Given the description of an element on the screen output the (x, y) to click on. 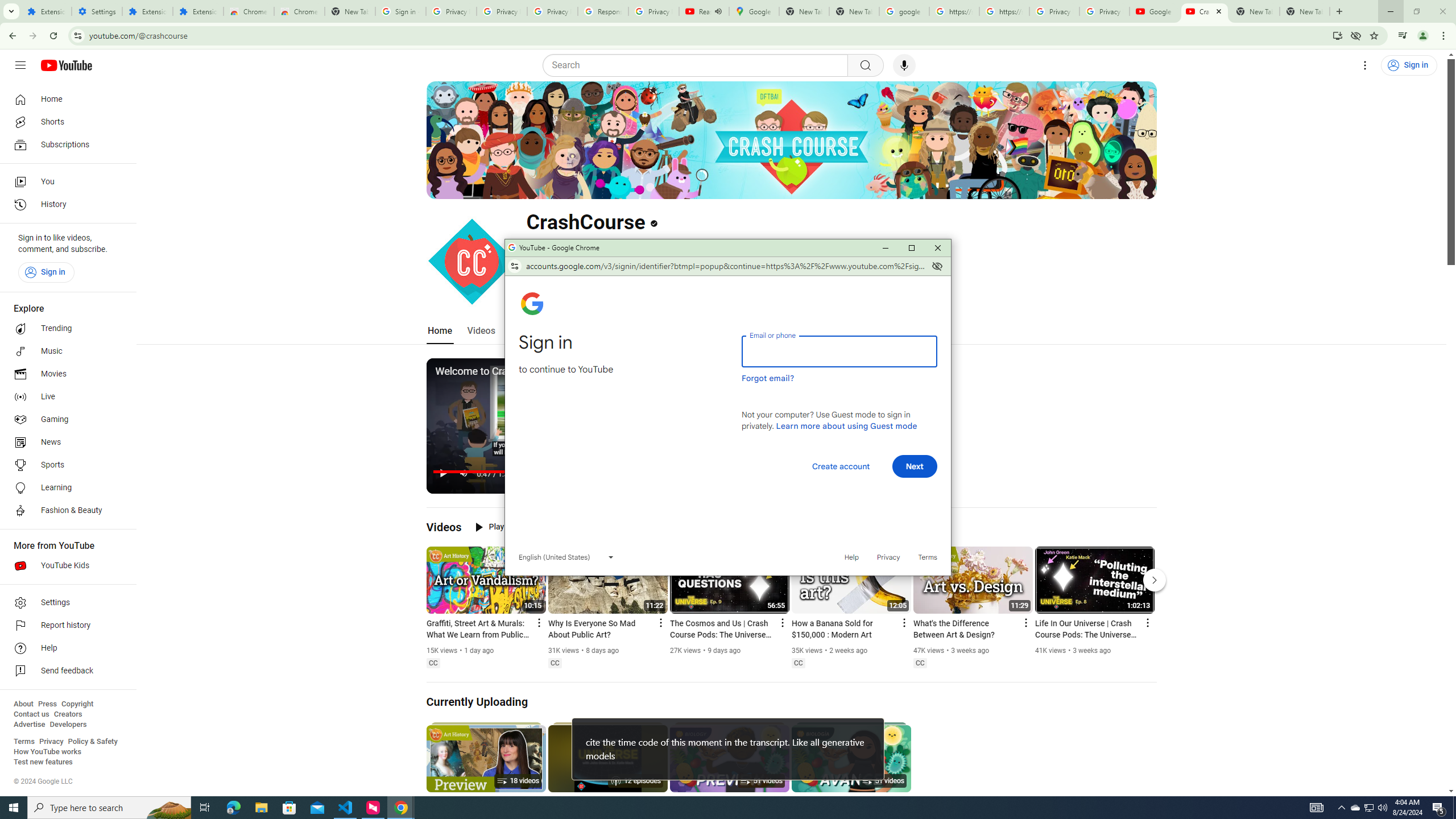
Guide (20, 65)
Learning (64, 487)
Fashion & Beauty (64, 510)
Shorts (64, 121)
Start (13, 807)
Chrome Web Store - Themes (299, 11)
Movies (64, 373)
https://scholar.google.com/ (1004, 11)
Policy & Safety (91, 741)
Install YouTube (1336, 35)
